Given the description of an element on the screen output the (x, y) to click on. 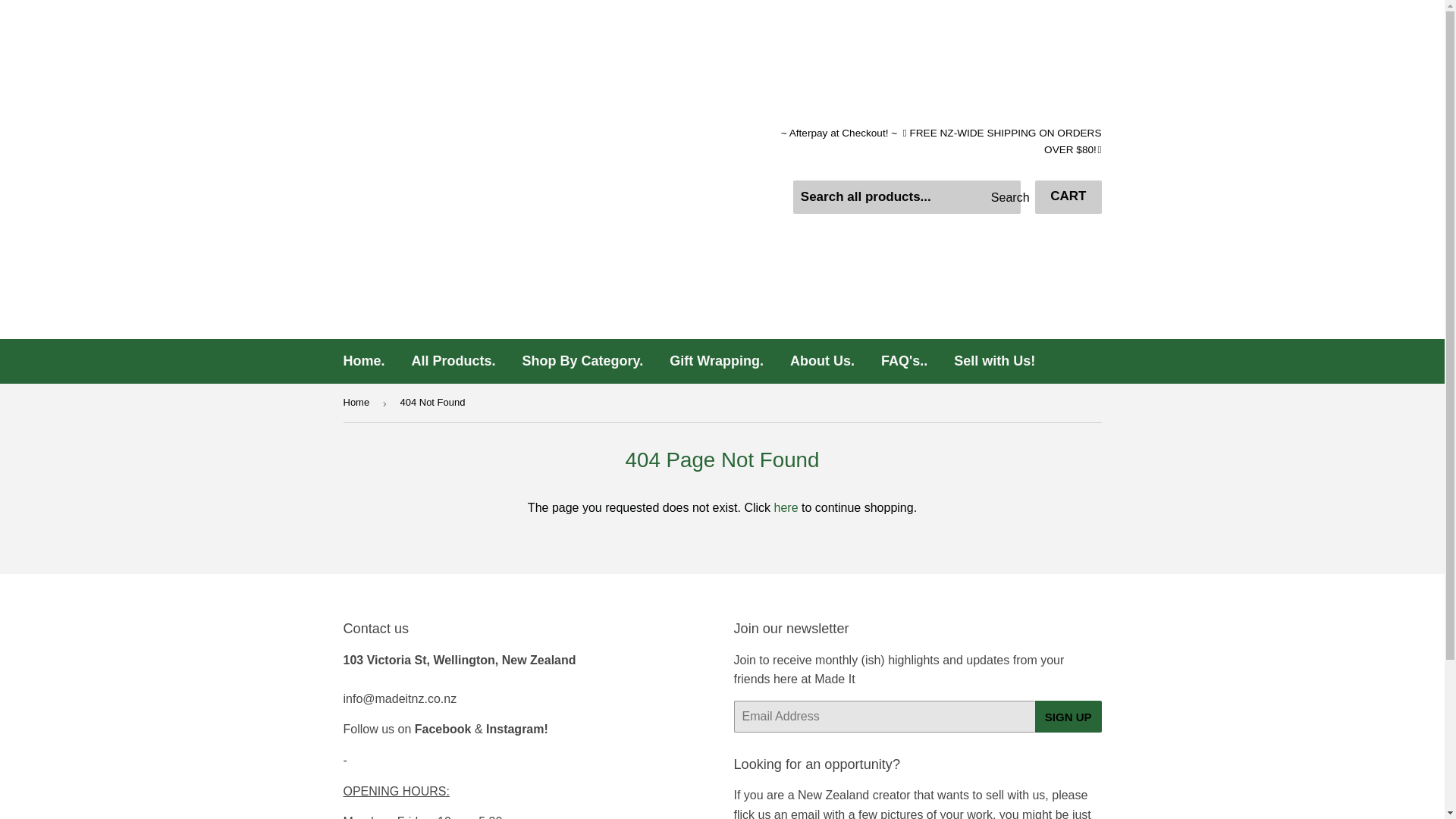
Instagram! (517, 728)
All Products. (453, 361)
Sell with Us! (994, 361)
About Us. (822, 361)
Shop By Category. (583, 361)
Search (1003, 197)
here (785, 507)
Gift Wrapping. (716, 361)
CART (1067, 196)
SIGN UP (1068, 716)
